Given the description of an element on the screen output the (x, y) to click on. 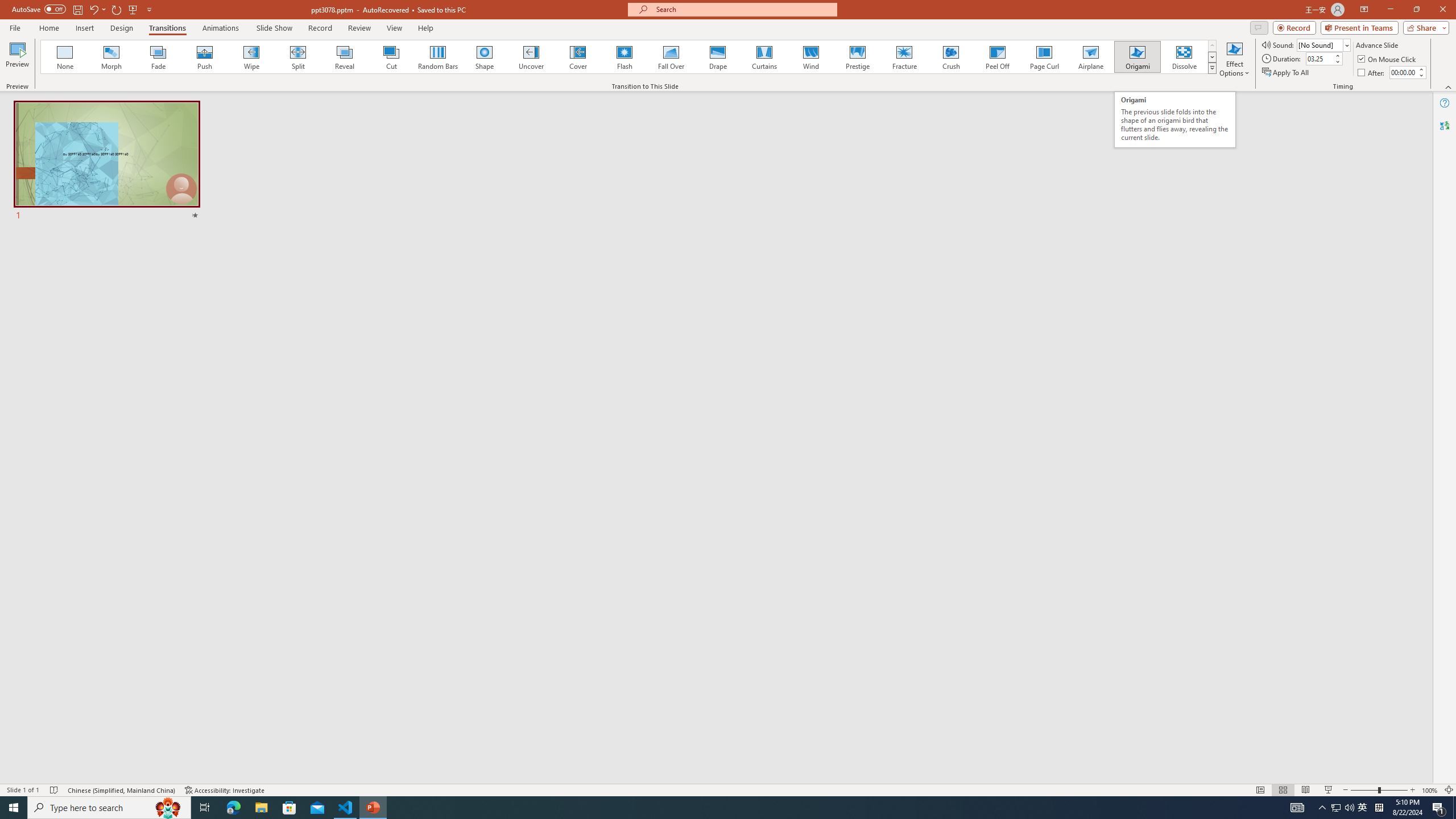
Random Bars (437, 56)
On Mouse Click (1387, 58)
Airplane (1090, 56)
Fall Over (670, 56)
Curtains (764, 56)
More (1420, 69)
